Given the description of an element on the screen output the (x, y) to click on. 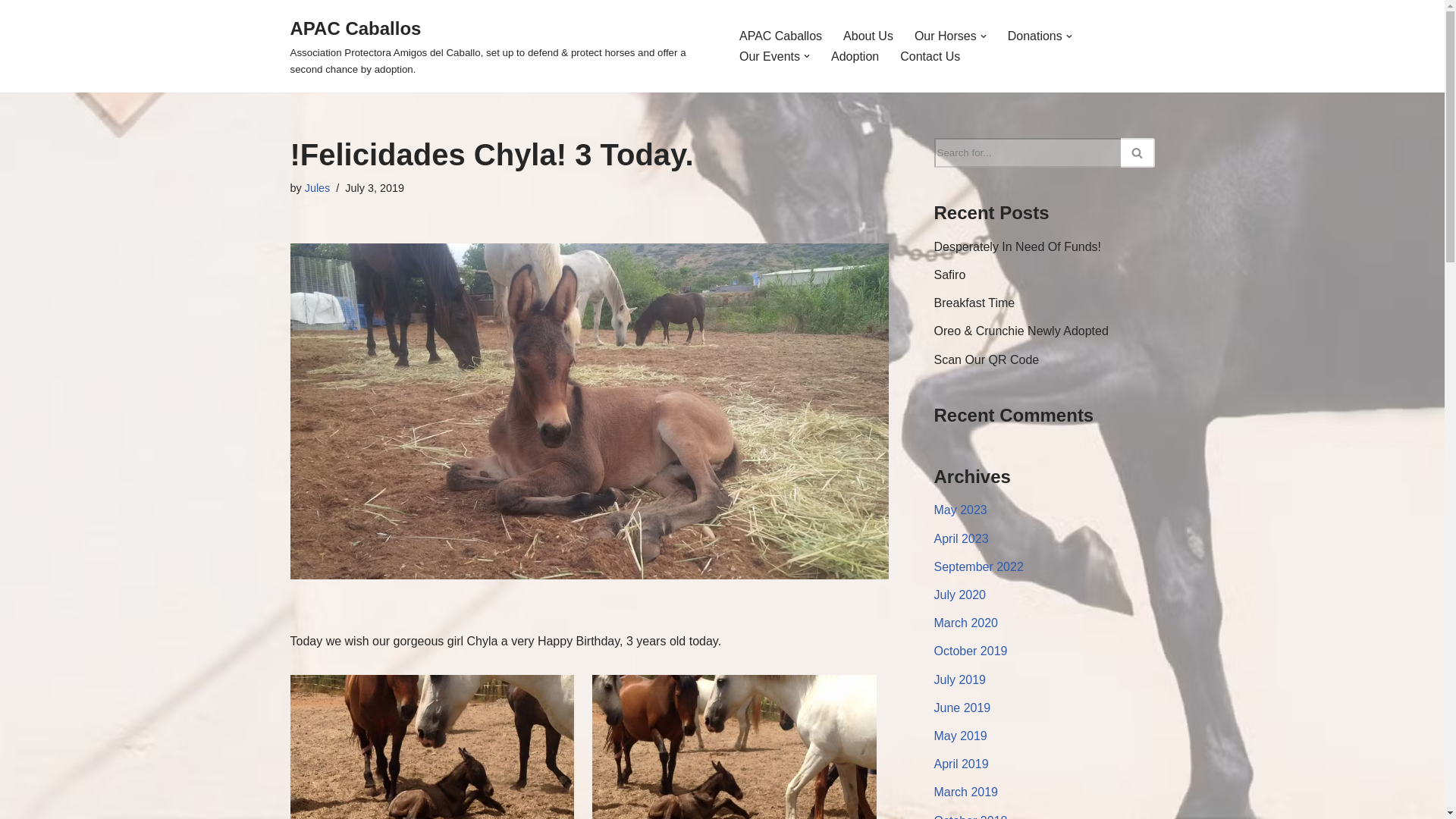
APAC Caballos (501, 45)
Our Horses (945, 35)
Donations (1034, 35)
APAC Caballos (780, 35)
About Us (868, 35)
Posts by Jules (317, 187)
Skip to content (11, 31)
Our Events (769, 55)
